Given the description of an element on the screen output the (x, y) to click on. 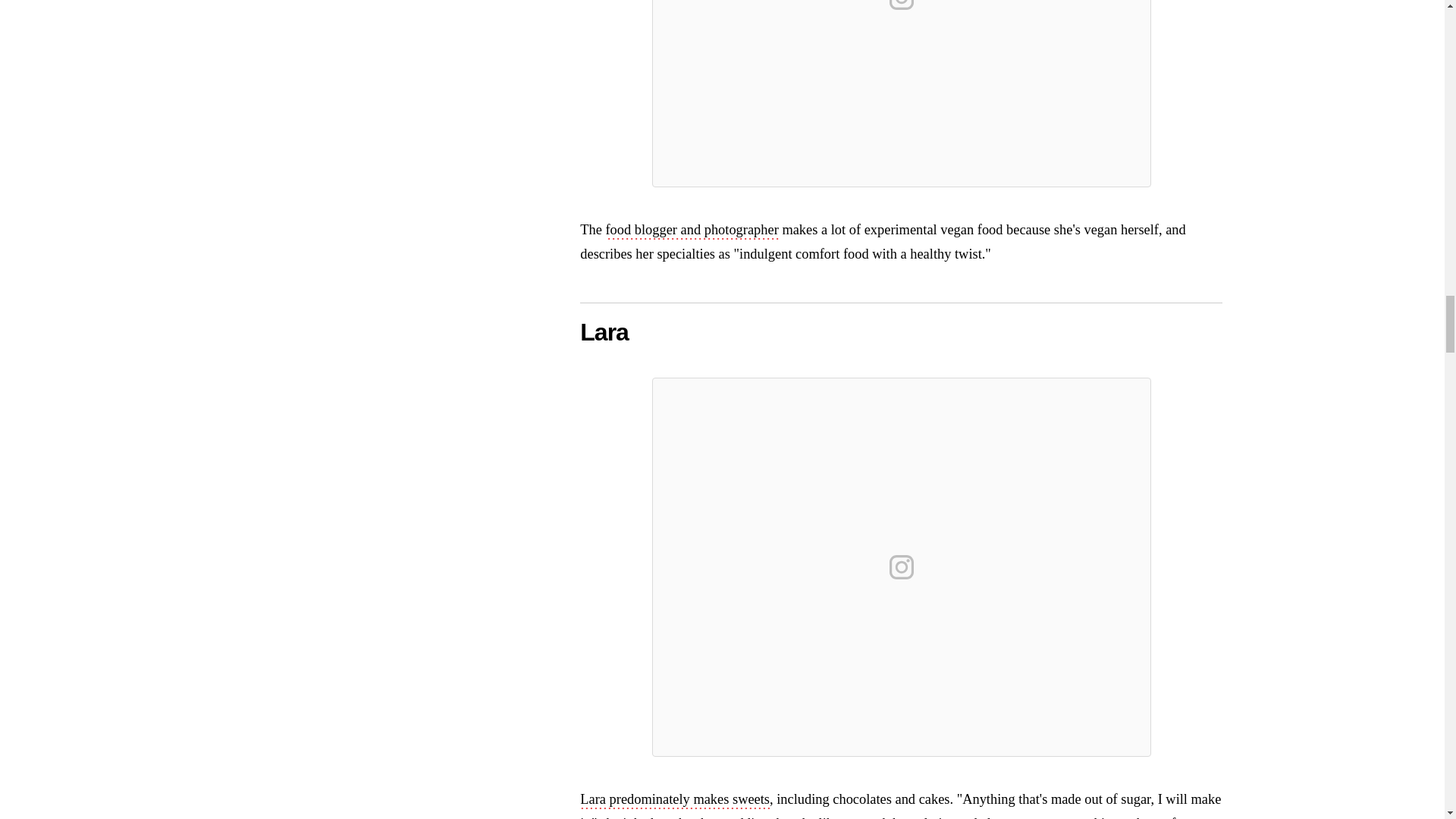
View on Instagram (901, 7)
food blogger and photographer (691, 230)
View on Instagram (901, 566)
Lara predominately makes sweets (674, 800)
